Given the description of an element on the screen output the (x, y) to click on. 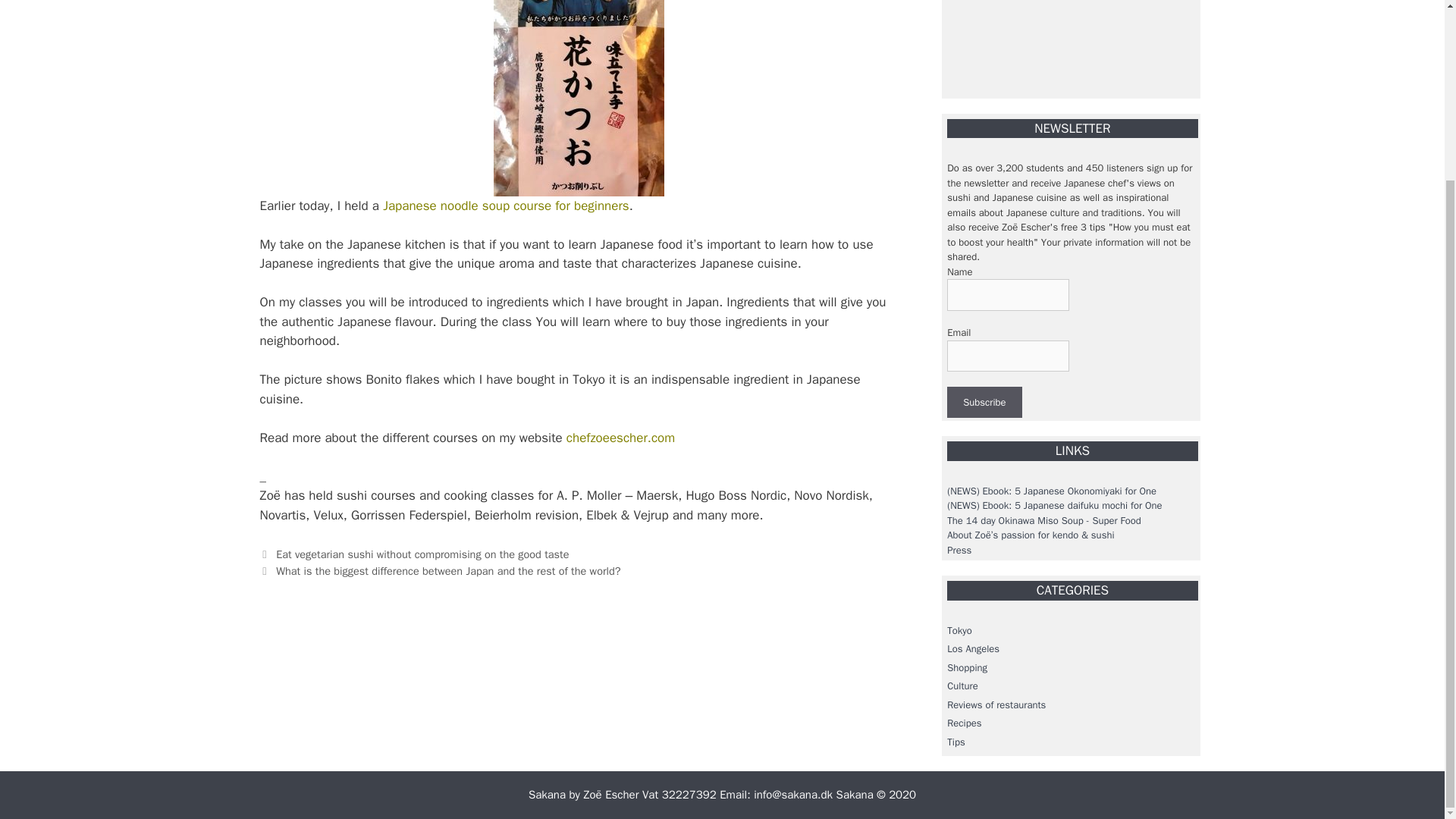
chefzoeescher.com (620, 437)
Japanese noodle soup course for beginners (505, 205)
